Given the description of an element on the screen output the (x, y) to click on. 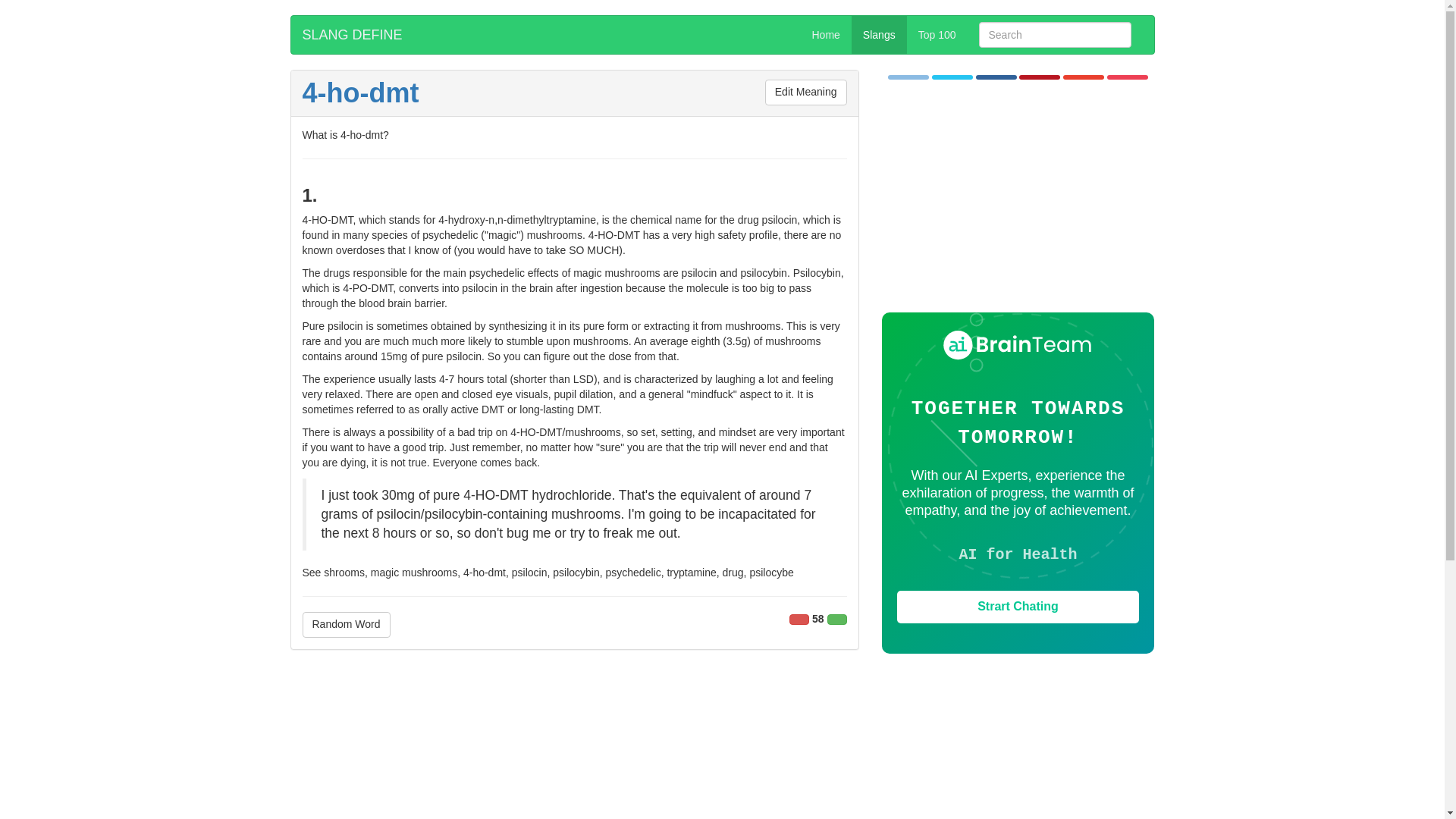
SLANG DEFINE (352, 34)
4-ho-dmt (360, 92)
Random Word (345, 624)
Home (825, 34)
Edit Meaning (806, 92)
Strart Chating (1017, 606)
Slangs (879, 34)
Top 100 (937, 34)
